Given the description of an element on the screen output the (x, y) to click on. 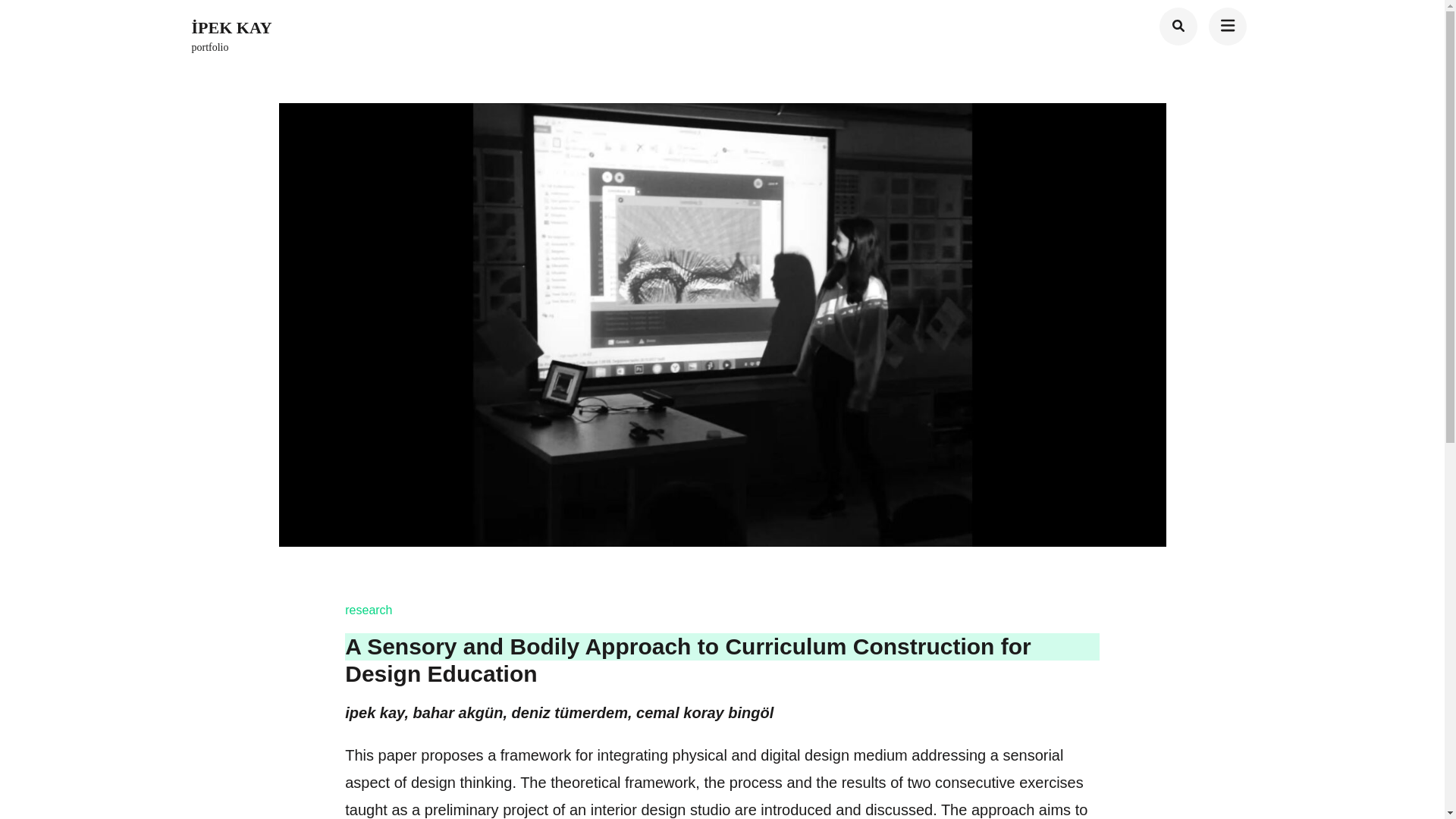
IPEK KAY (230, 27)
research (377, 609)
